Given the description of an element on the screen output the (x, y) to click on. 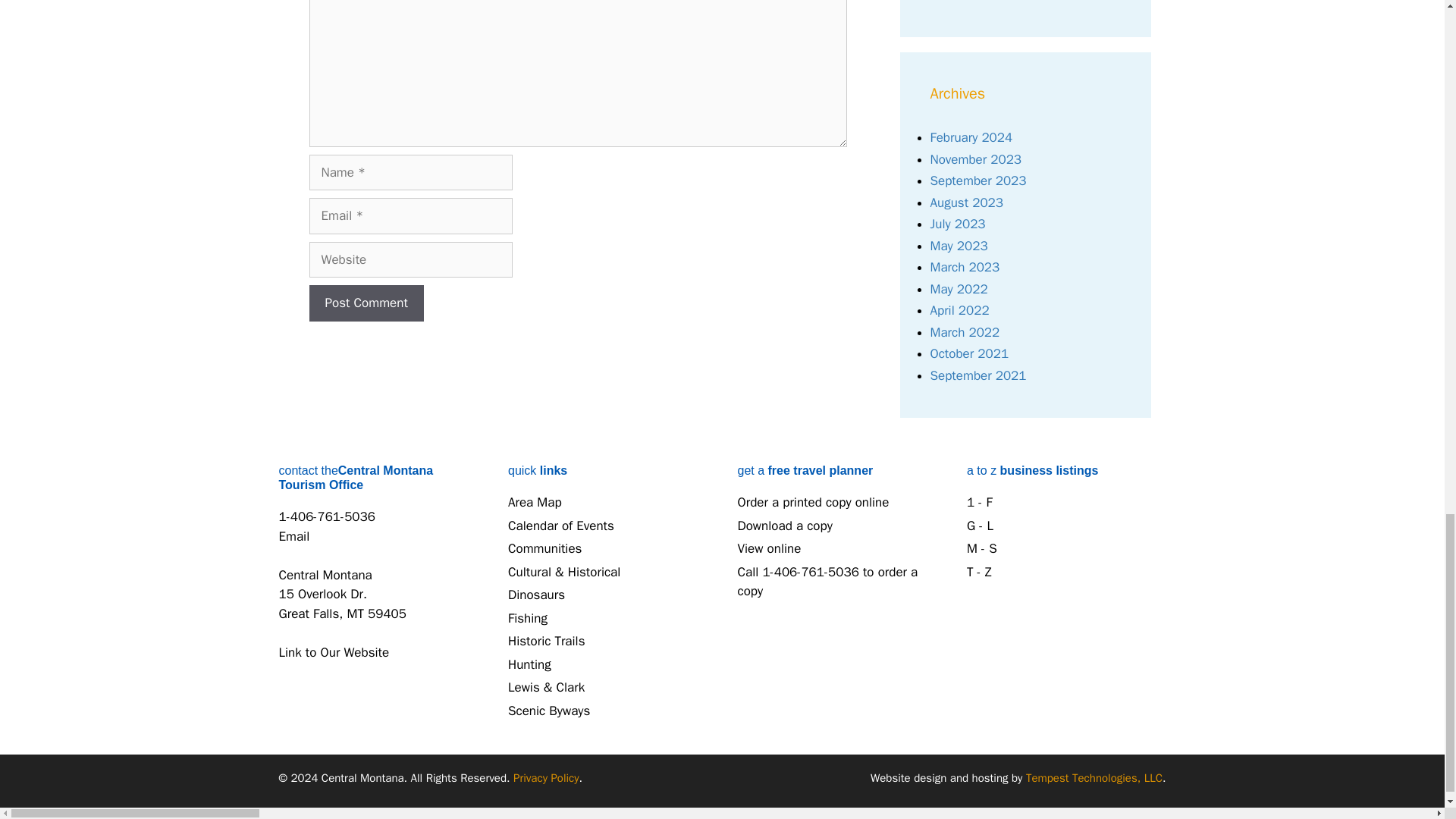
Calendar of Events (561, 525)
Area Map (535, 502)
Communities (544, 548)
Post Comment (365, 303)
